Given the description of an element on the screen output the (x, y) to click on. 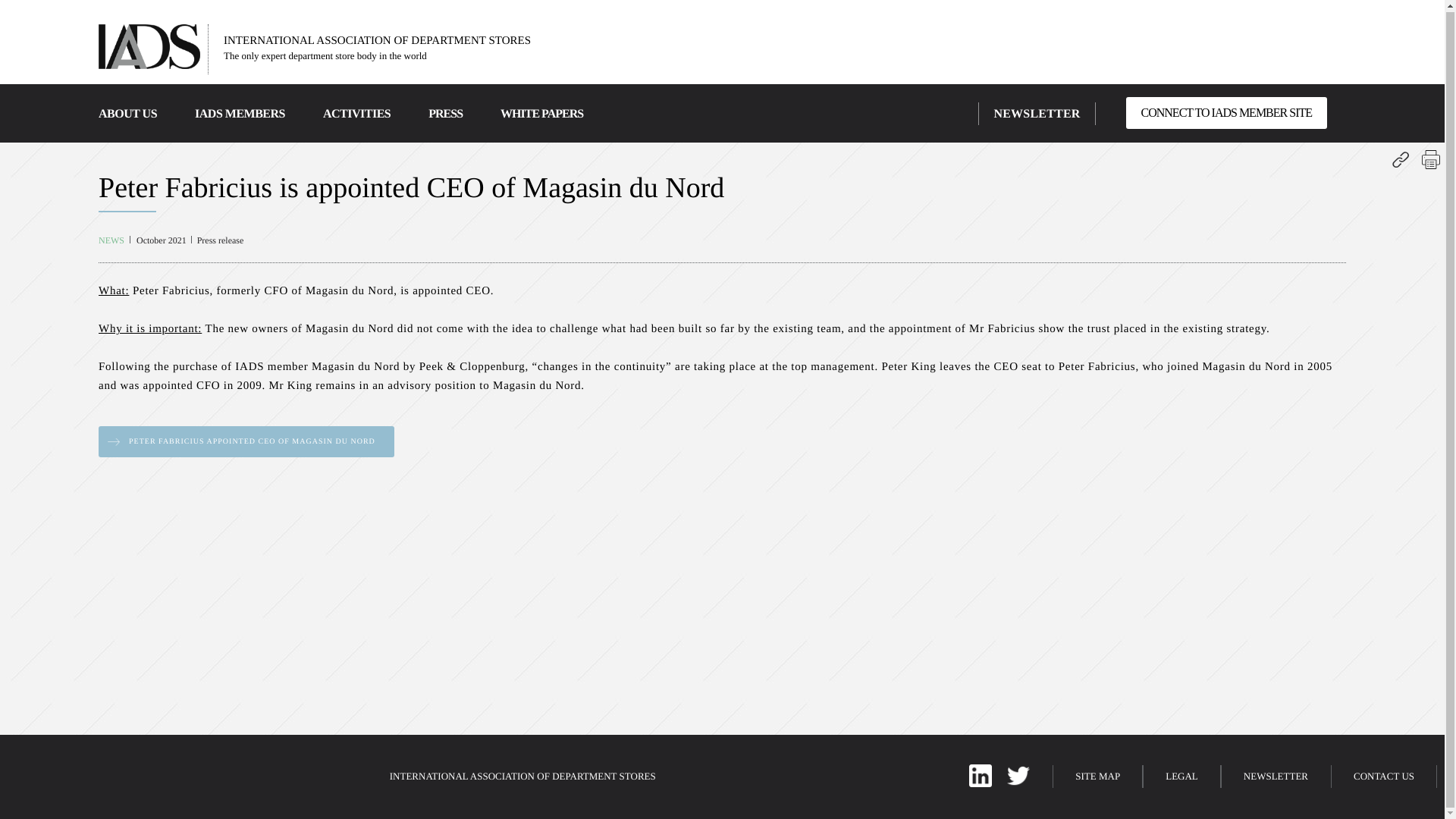
CONNECT TO IADS MEMBER SITE (1225, 112)
NEWSLETTER (1036, 113)
PRESS (445, 113)
WHITE PAPERS (541, 113)
PETER FABRICIUS APPOINTED CEO OF MAGASIN DU NORD (246, 441)
